Given the description of an element on the screen output the (x, y) to click on. 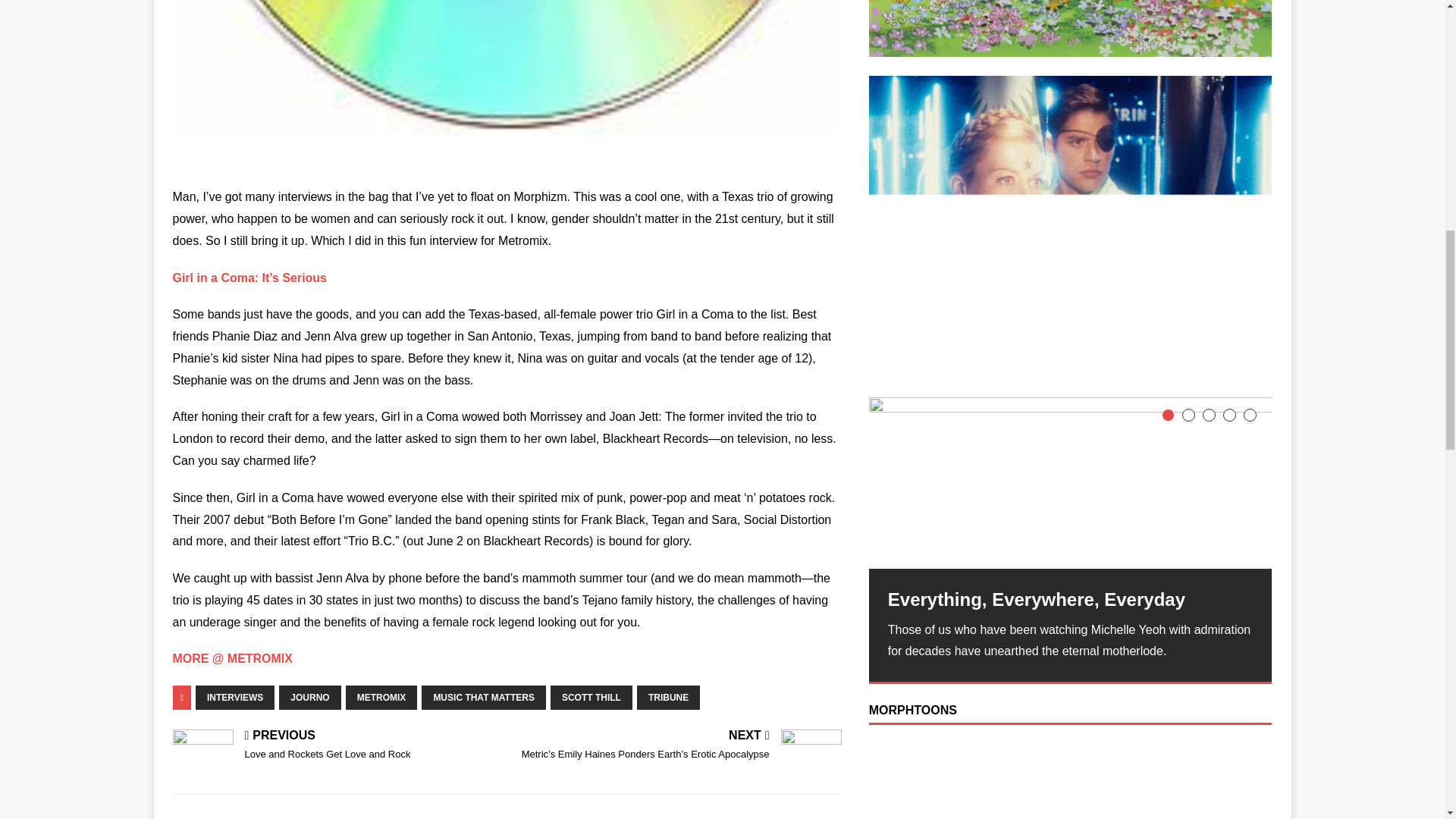
image (507, 67)
Everything, Everywhere, Everyday (1070, 482)
MUSIC THAT MATTERS (484, 697)
TRIBUNE (668, 697)
JOURNO (309, 697)
YouTube video player (1070, 779)
Everything, Everywhere, Everyday (1070, 599)
METROMIX (381, 697)
SCOTT THILL (590, 697)
